Given the description of an element on the screen output the (x, y) to click on. 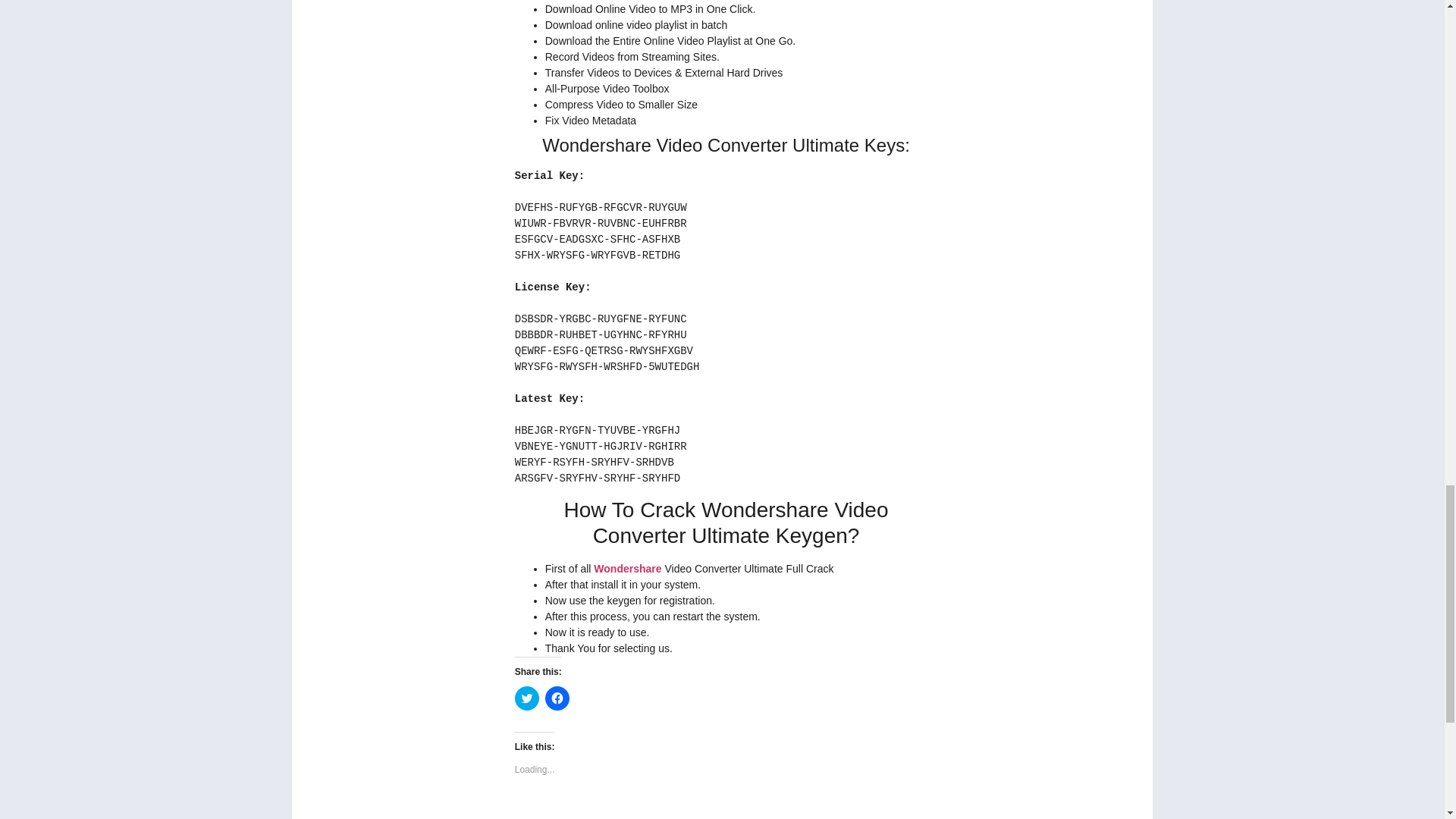
Click to share on Twitter (526, 698)
Click to share on Facebook (556, 698)
